Given the description of an element on the screen output the (x, y) to click on. 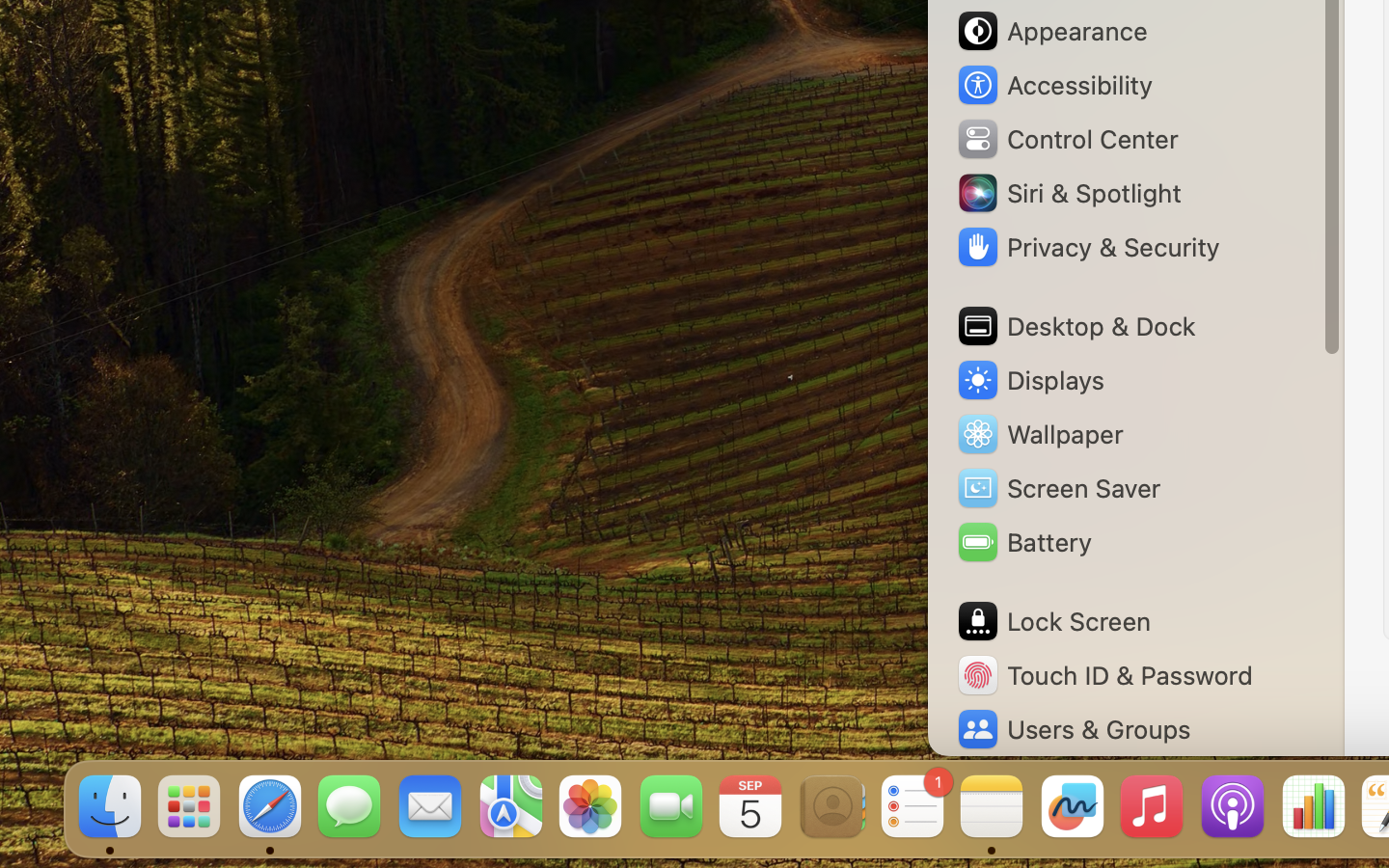
Wallpaper Element type: AXStaticText (1038, 433)
Siri & Spotlight Element type: AXStaticText (1067, 192)
Lock Screen Element type: AXStaticText (1052, 620)
Battery Element type: AXStaticText (1022, 541)
Desktop & Dock Element type: AXStaticText (1075, 325)
